Given the description of an element on the screen output the (x, y) to click on. 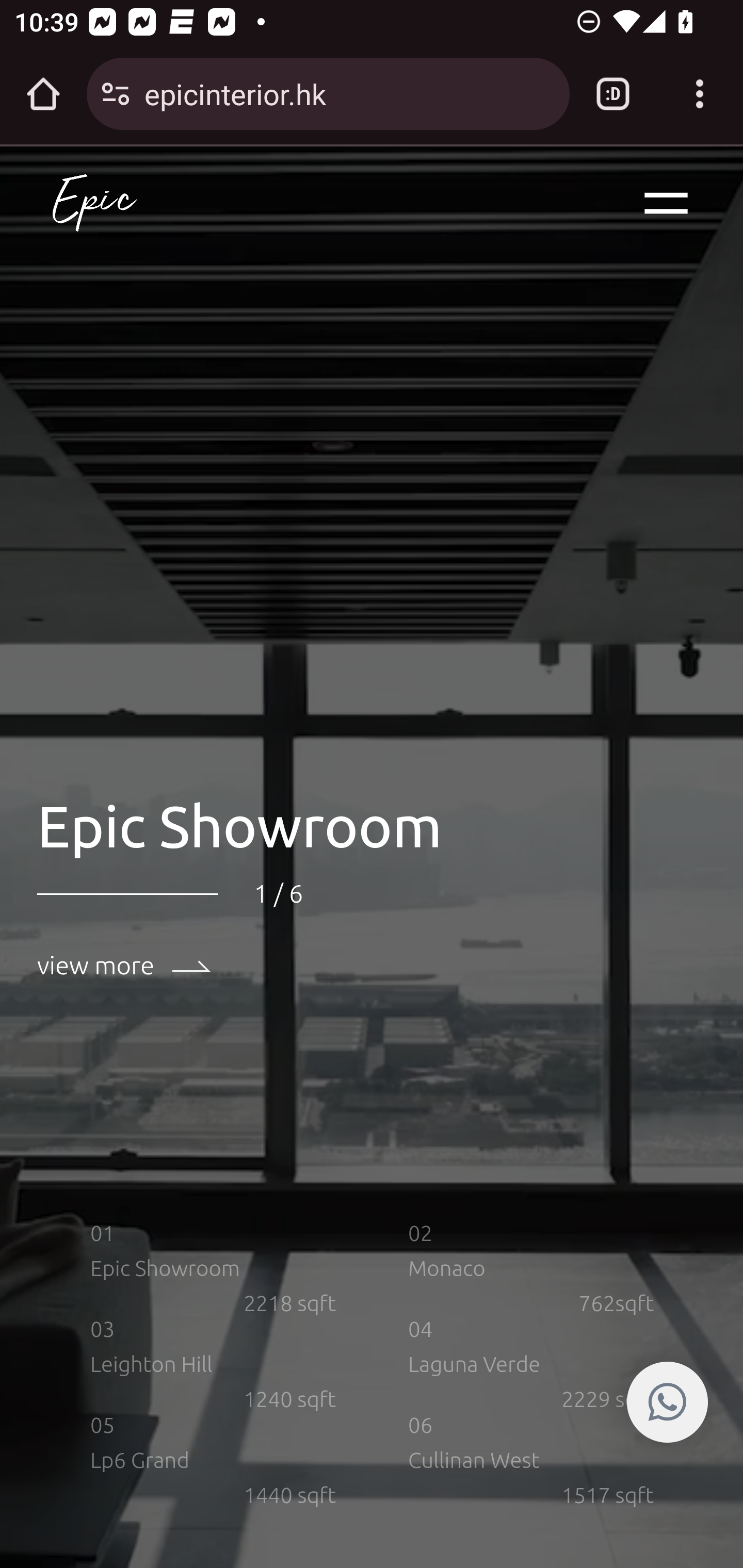
Open the home page (43, 93)
Connection is secure (115, 93)
Switch or close tabs (612, 93)
Customize and control Google Chrome (699, 93)
epicinterior.hk (349, 92)
en (94, 204)
menu (666, 204)
view more (124, 965)
02 Monaco 762sqft 02 Monaco 762sqft (531, 1267)
85297019887 (666, 1402)
05 Lp6 Grand 1440 sqft 05 Lp6 Grand 1440 sqft (213, 1459)
